Given the description of an element on the screen output the (x, y) to click on. 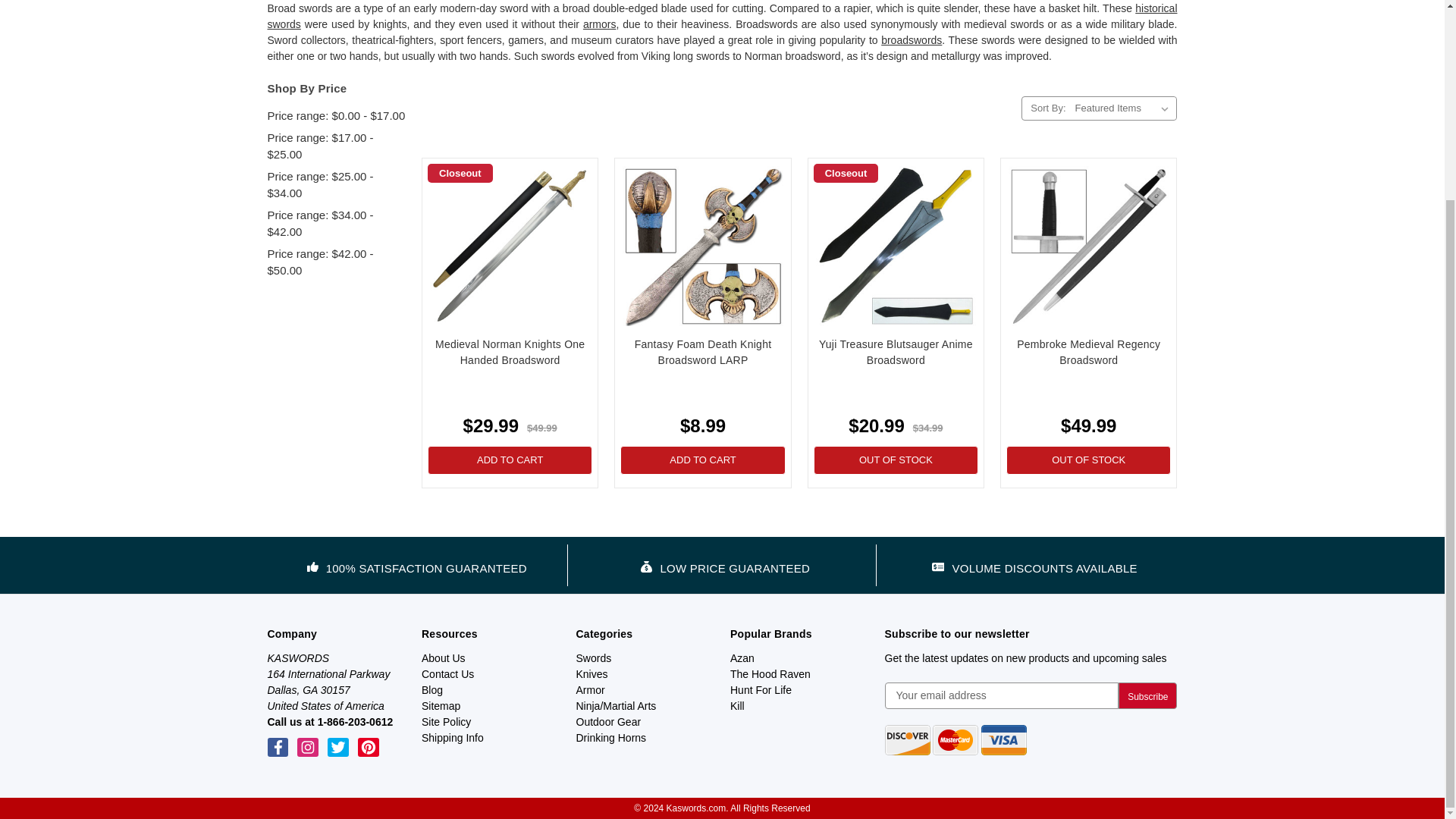
Yuji Treasure Blutsauger Anime Broadsword (895, 245)
Subscribe (1147, 695)
Fantasy Foam Death Knight Broadsword LARP (703, 245)
Pembroke Medieval Regency Broadsword (1089, 245)
Medieval Norman Knights One Handed Broadsword (509, 245)
